Given the description of an element on the screen output the (x, y) to click on. 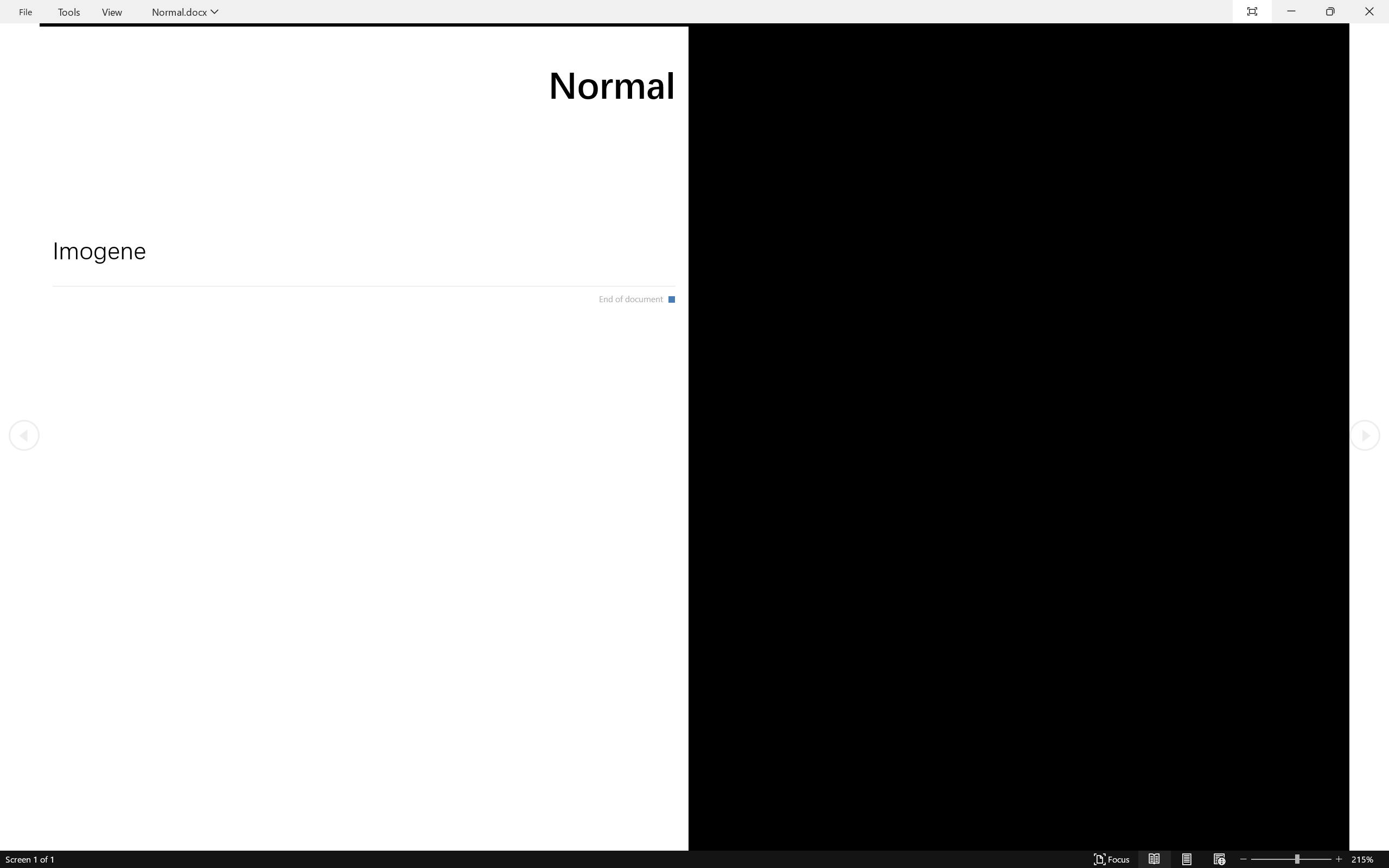
Class: NetUIScrollBar (694, 860)
Class: Net UI Tool Window Layered (694, 11)
